Given the description of an element on the screen output the (x, y) to click on. 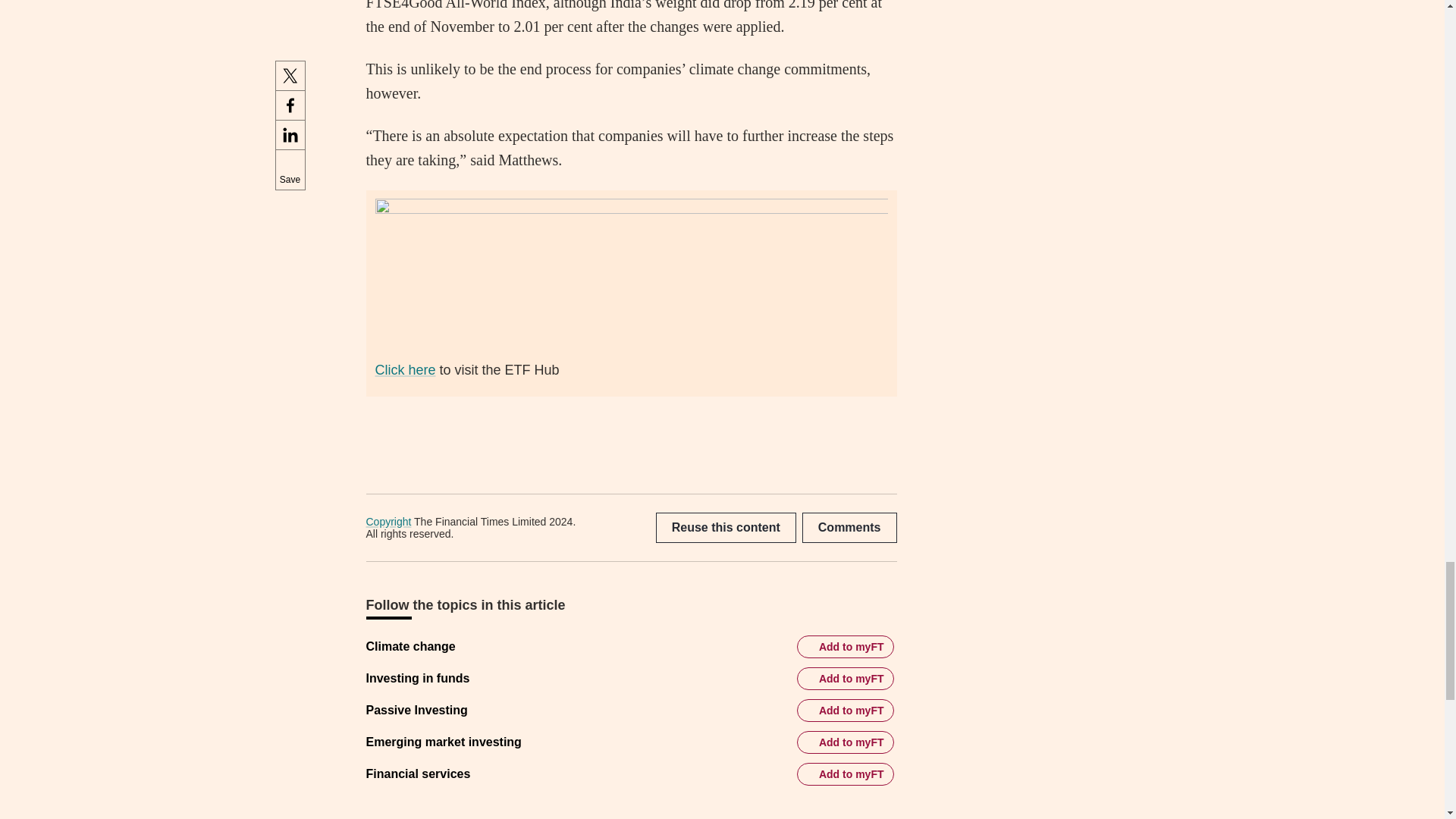
Add Financial services to myFT (844, 773)
Jump to comments section (849, 527)
Add Investing in funds to myFT (844, 678)
Add Climate change to myFT (844, 646)
Add Emerging market investing to myFT (844, 742)
Add Passive Investing to myFT (844, 710)
